Given the description of an element on the screen output the (x, y) to click on. 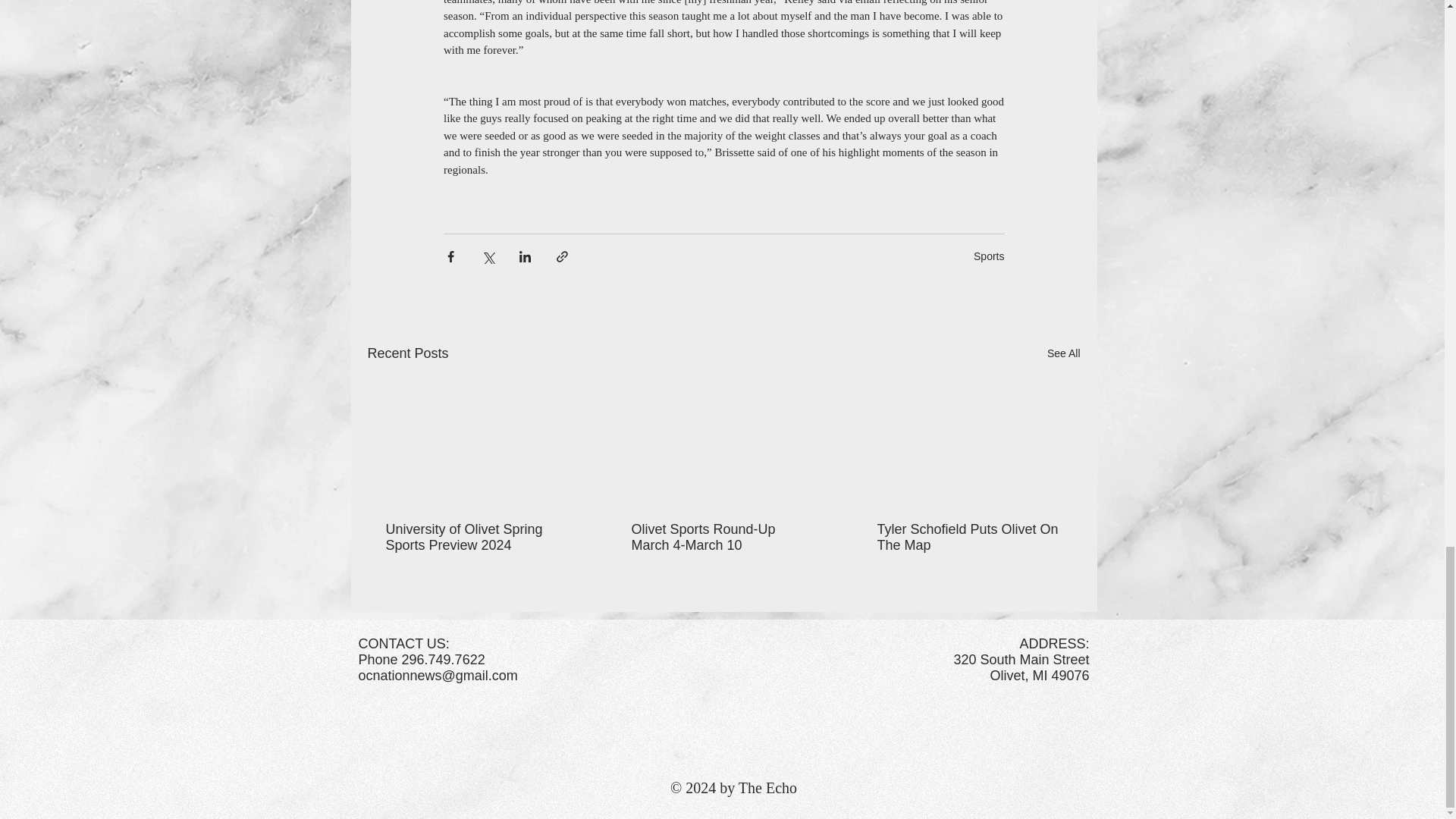
Sports (989, 256)
Olivet Sports Round-Up March 4-March 10 (721, 537)
See All (1063, 353)
Tyler Schofield Puts Olivet On The Map (967, 537)
University of Olivet Spring Sports Preview 2024 (477, 537)
